Given the description of an element on the screen output the (x, y) to click on. 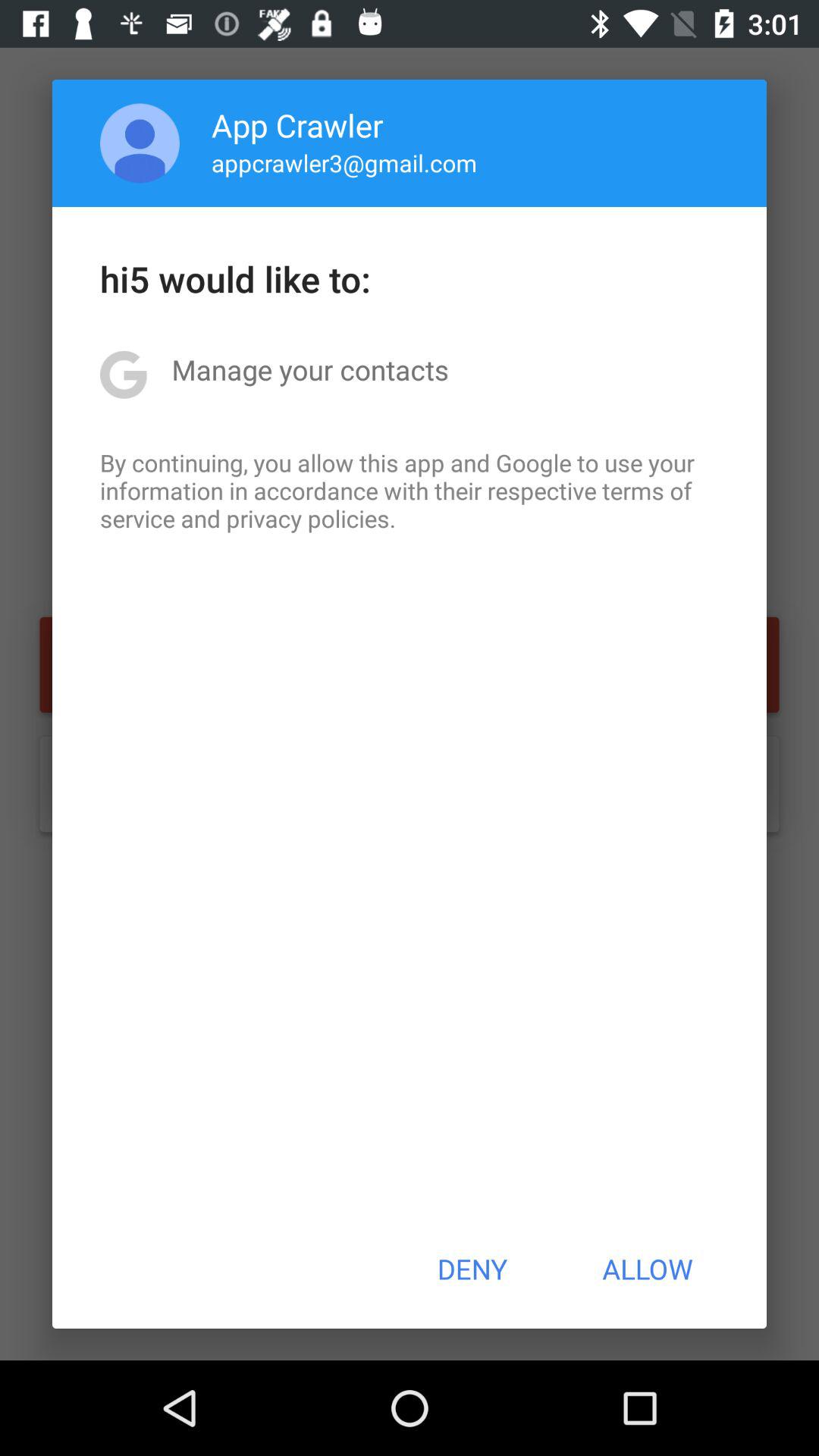
choose item above the appcrawler3@gmail.com (297, 124)
